Given the description of an element on the screen output the (x, y) to click on. 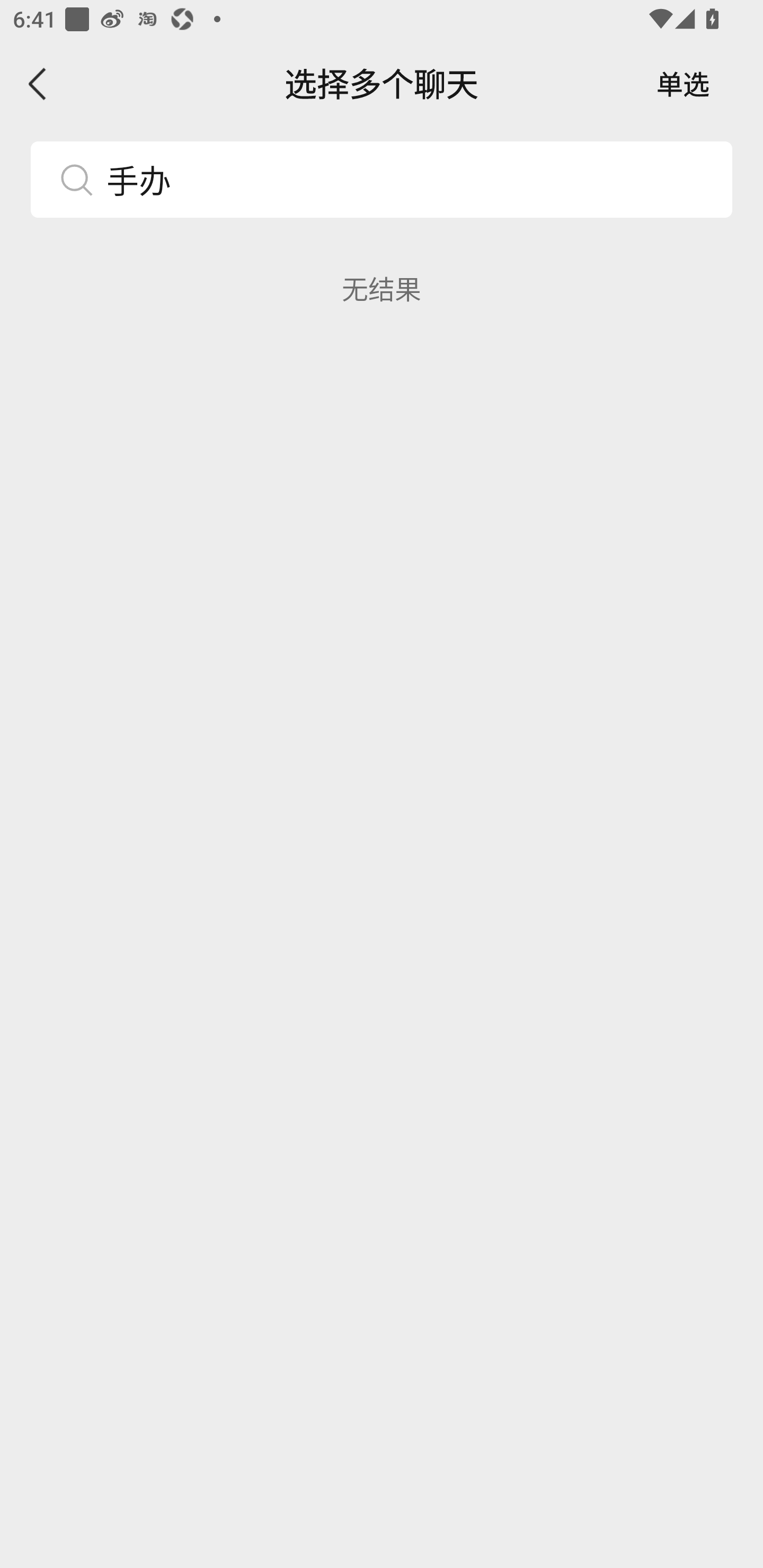
返回 (38, 83)
单选 (683, 83)
手办 (381, 179)
手办 (411, 179)
最近聊天 从通讯录选择 (381, 290)
